Given the description of an element on the screen output the (x, y) to click on. 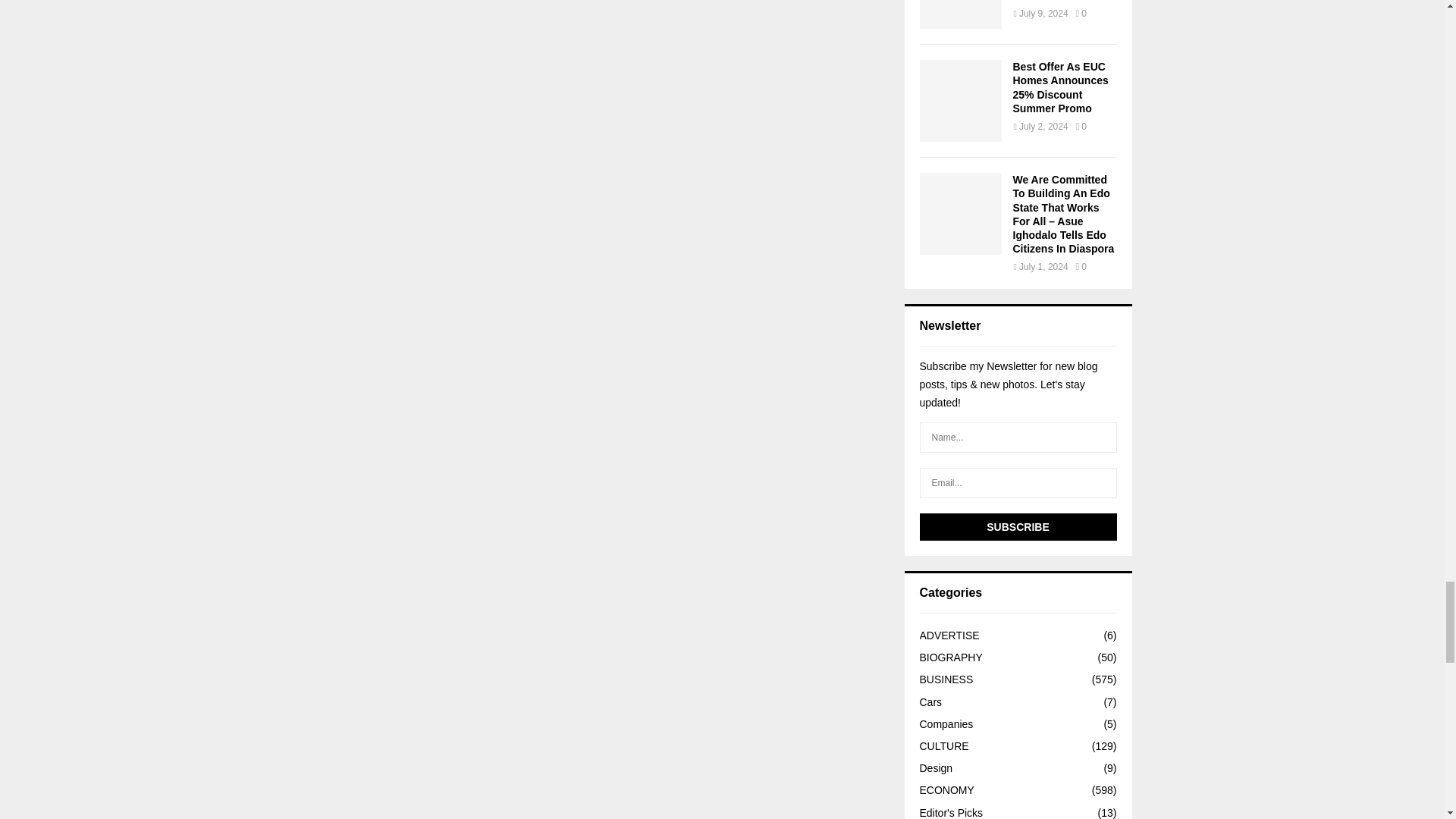
Subscribe (1017, 526)
